Given the description of an element on the screen output the (x, y) to click on. 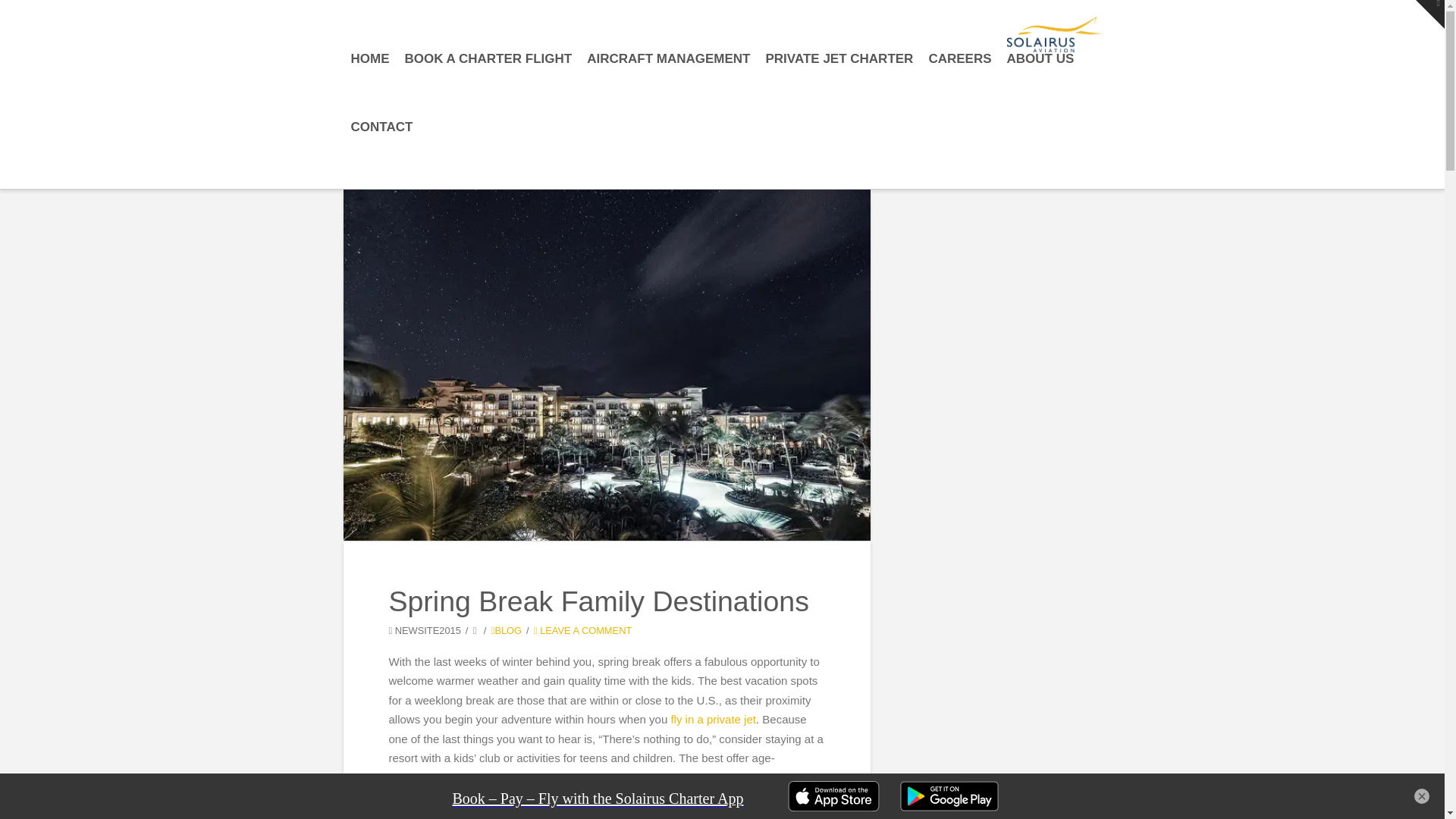
CAREERS (959, 86)
ABOUT US (1039, 86)
BOOK A CHARTER FLIGHT (488, 86)
AIRCRAFT MANAGEMENT (668, 86)
PRIVATE JET CHARTER (839, 86)
CONTACT (381, 154)
